Given the description of an element on the screen output the (x, y) to click on. 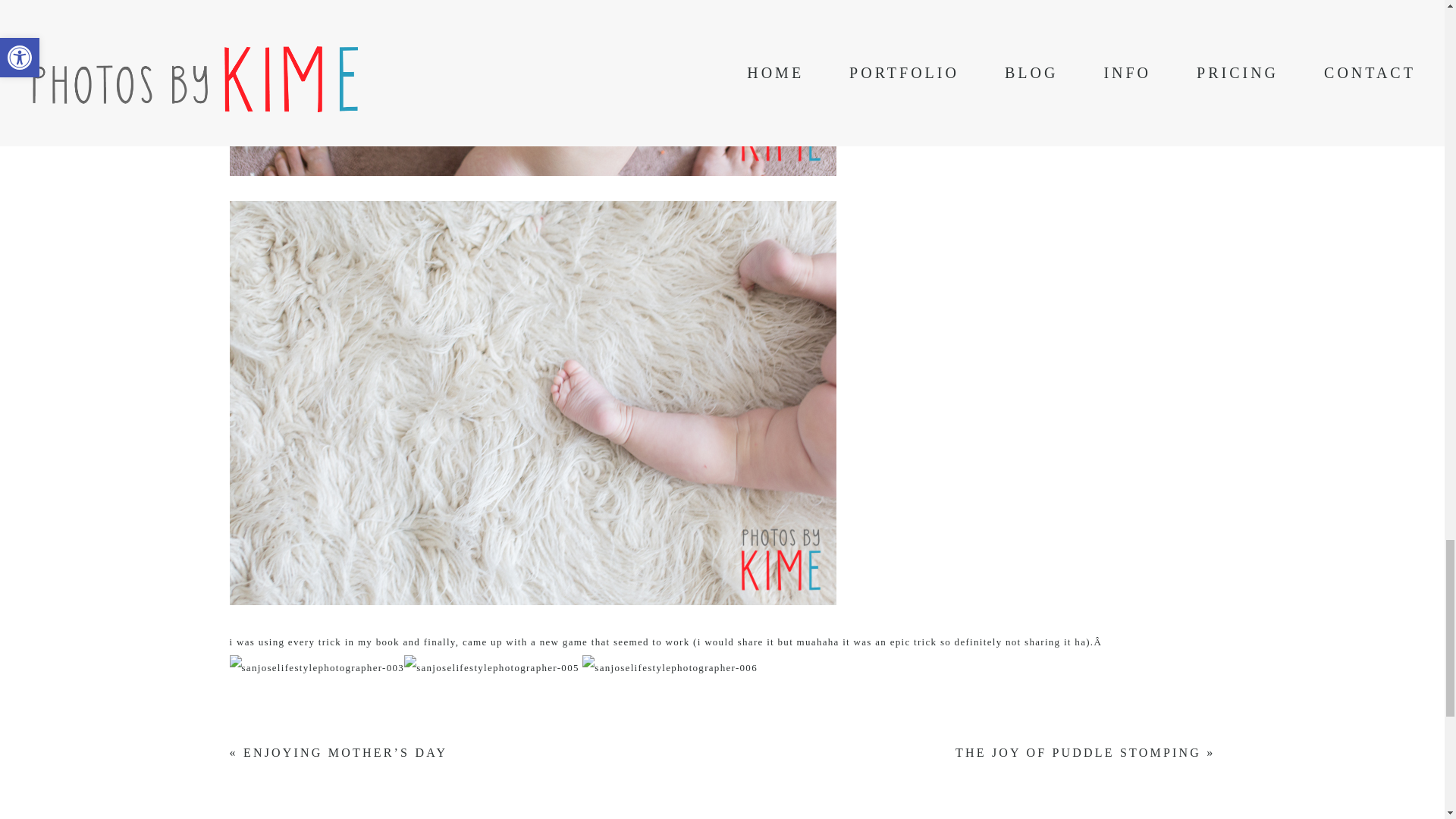
THE JOY OF PUDDLE STOMPING (1078, 752)
